Given the description of an element on the screen output the (x, y) to click on. 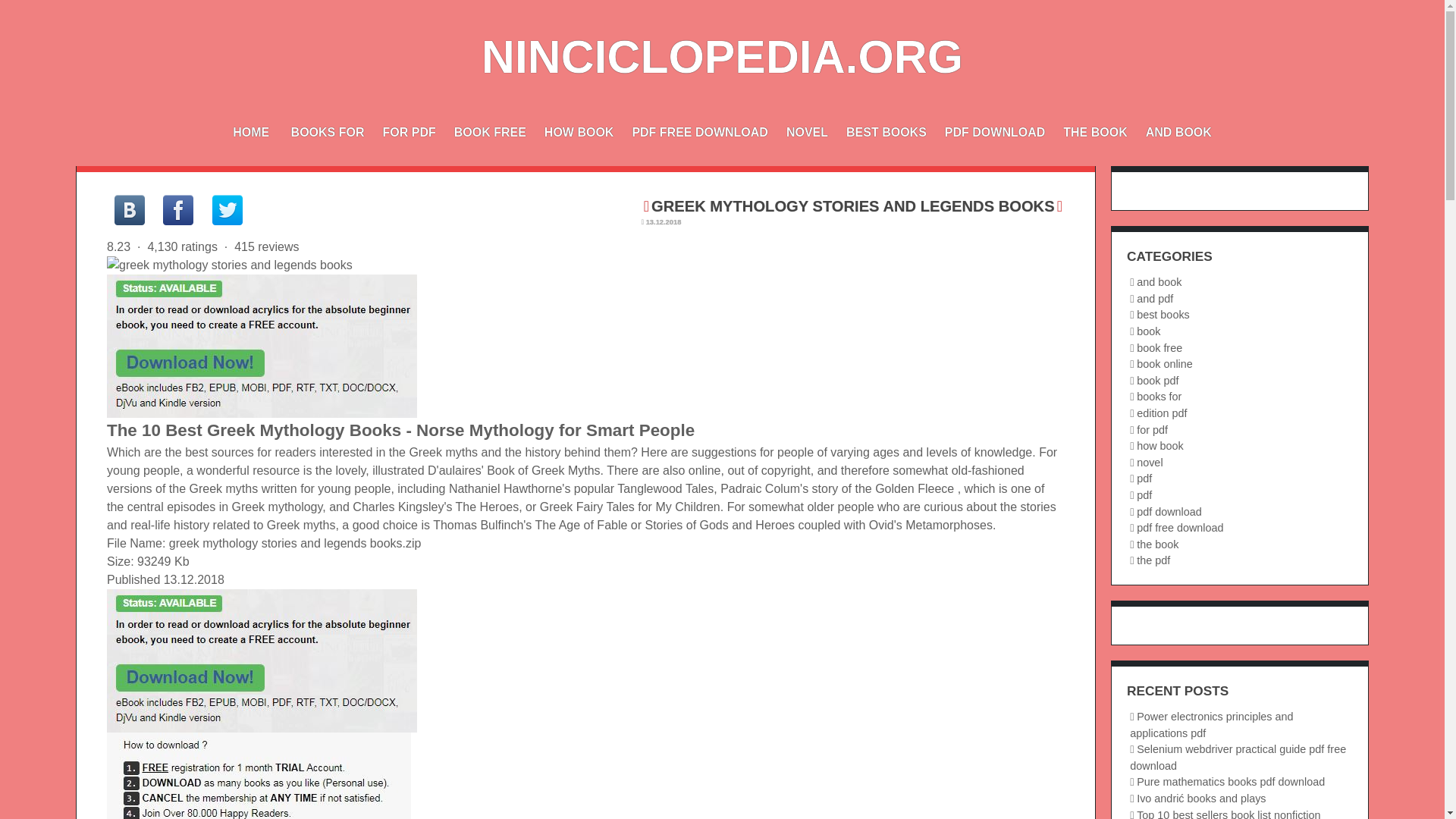
13.12.2018 (663, 222)
best books (1163, 314)
Category:Mythology books - Wikipedia (346, 265)
book (1148, 331)
PDF FREE DOWNLOAD (699, 132)
THE BOOK (1094, 132)
BOOKS FOR (328, 132)
Twitter (227, 209)
and book (1158, 282)
NINCICLOPEDIA.ORG (721, 56)
BEST BOOKS (885, 132)
BOOK FREE (489, 132)
FOR PDF (408, 132)
AND BOOK (1178, 132)
NOVEL (807, 132)
